Given the description of an element on the screen output the (x, y) to click on. 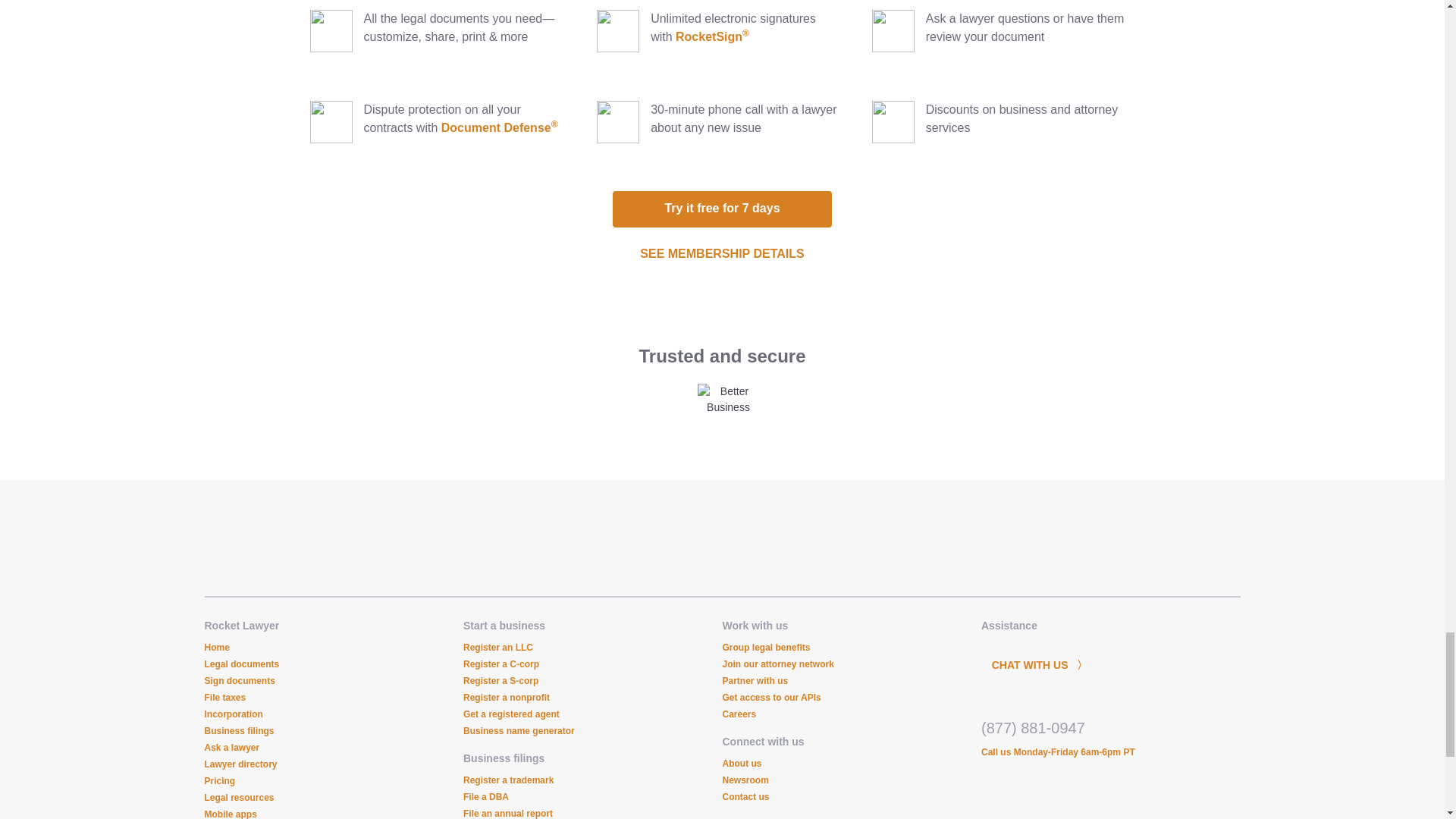
Lawyer directory (241, 764)
Pricing (220, 780)
Incorporation (234, 714)
Business filings (240, 730)
Legal resources (240, 797)
Legal documents (242, 664)
Ask a lawyer (232, 747)
File taxes (225, 697)
Home (217, 647)
Sign documents (240, 680)
